Given the description of an element on the screen output the (x, y) to click on. 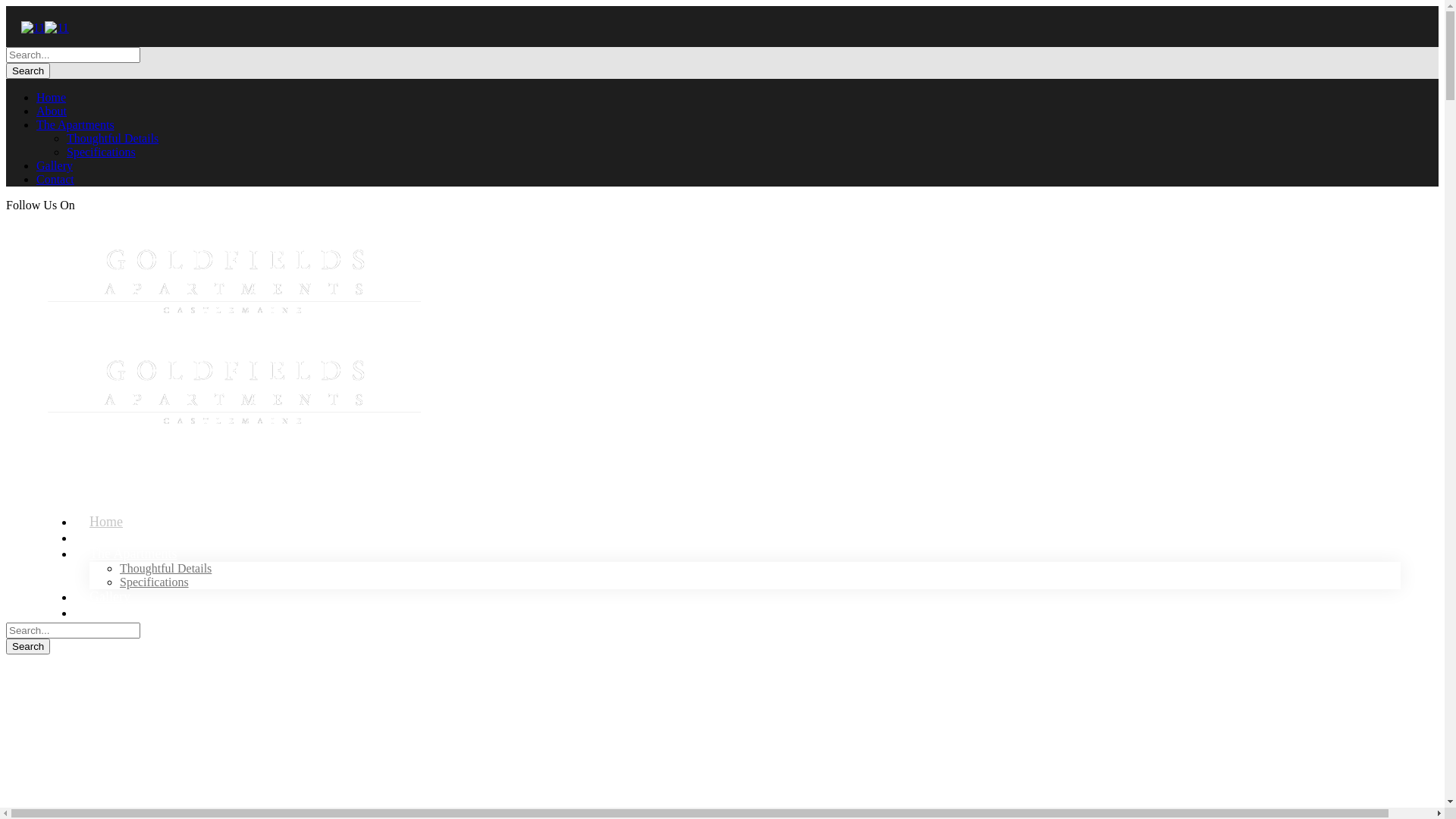
logo-white-nb Element type: hover (56, 27)
Home Element type: text (50, 97)
Gallery Element type: text (109, 604)
The Apartments Element type: text (132, 561)
Thoughtful Details Element type: text (112, 137)
Thoughtful Details Element type: text (165, 567)
Home Element type: text (105, 529)
Specifications Element type: text (153, 581)
Contact Element type: text (55, 178)
About Element type: text (51, 110)
goldfields-apartments-logo-vector-reverse Element type: hover (236, 391)
Gallery Element type: text (54, 165)
Specifications Element type: text (100, 151)
Contact Element type: text (110, 620)
goldfields-apartments-logo-vector-reverse Element type: hover (32, 27)
About Element type: text (106, 545)
goldfields-apartments-logo-vector-reverse Element type: hover (236, 281)
Search Element type: text (28, 646)
The Apartments Element type: text (75, 124)
Search Element type: text (28, 70)
